Given the description of an element on the screen output the (x, y) to click on. 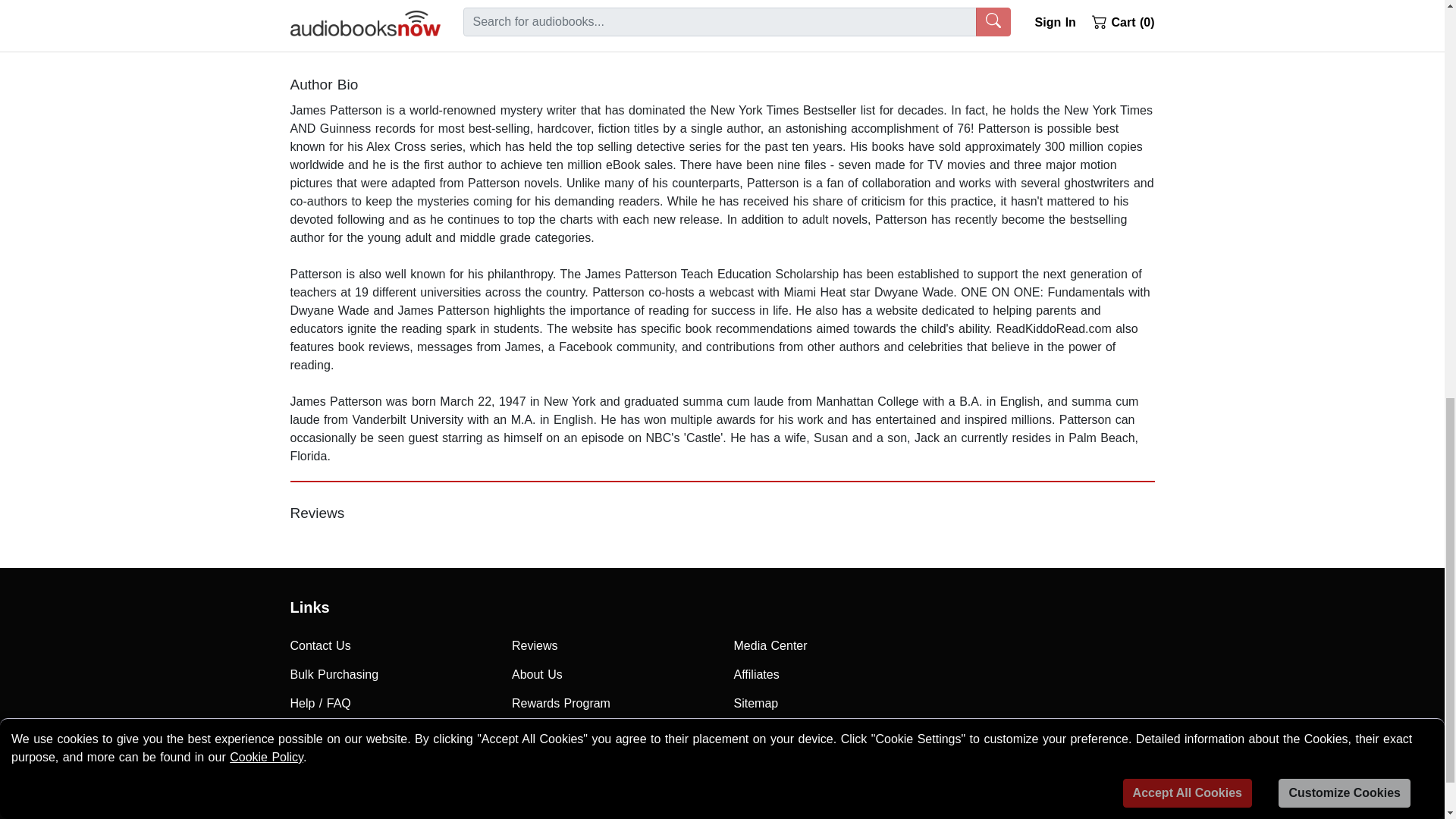
Reviews (611, 645)
Contact Us (389, 645)
Bulk Purchasing (389, 674)
Join Mailing List (389, 732)
About Us (611, 674)
